Given the description of an element on the screen output the (x, y) to click on. 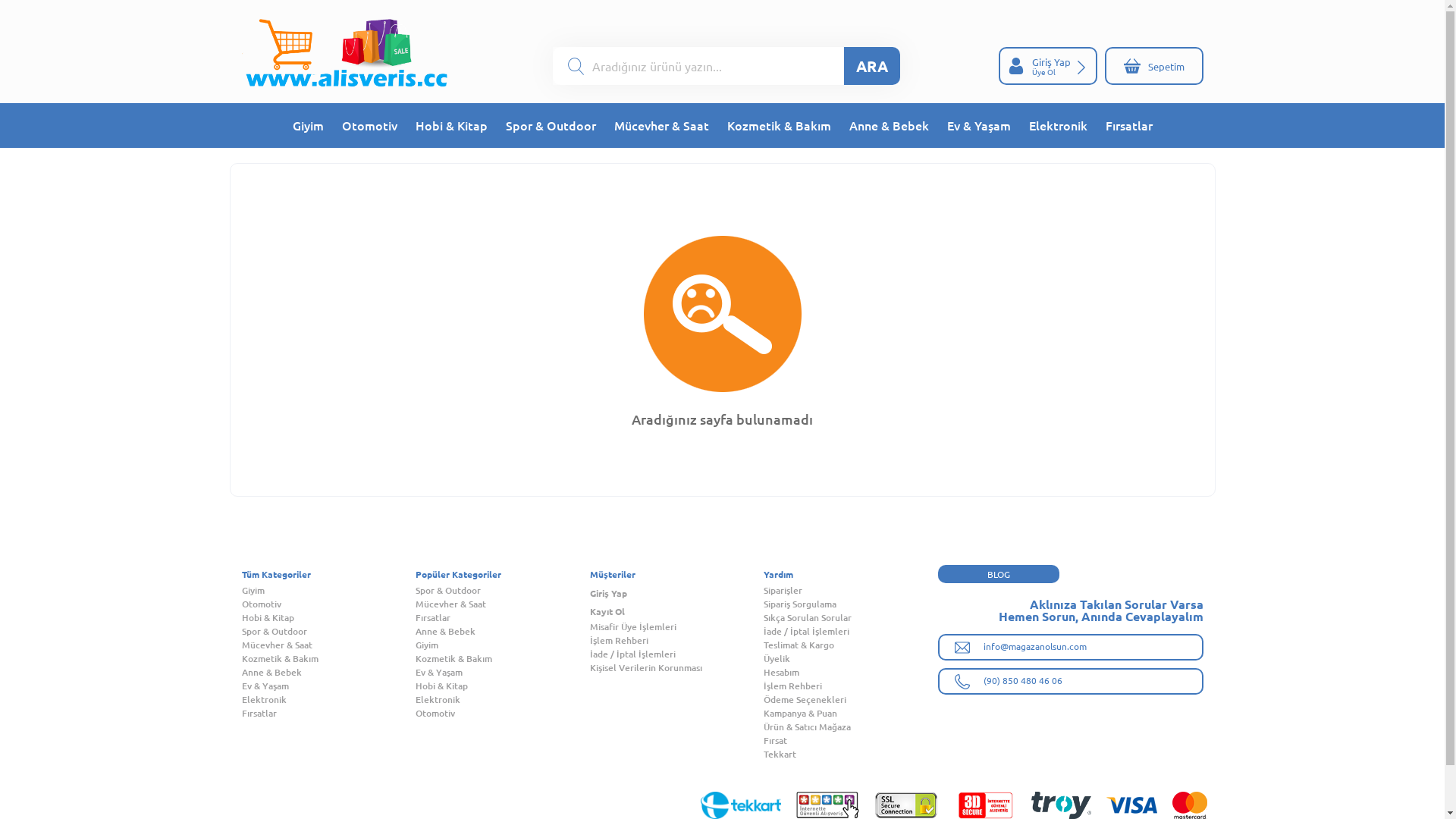
Kampanya & Puan Element type: text (850, 713)
Elektronik Element type: text (1057, 125)
Spor & Outdoor Element type: text (502, 590)
ARA Element type: text (872, 65)
info@magazanolsun.com Element type: text (1069, 646)
Elektronik Element type: text (502, 699)
BLOG Element type: text (997, 573)
Hobi & Kitap Element type: text (328, 617)
Teslimat & Kargo Element type: text (850, 645)
Hobi & Kitap Element type: text (502, 686)
Giyim Element type: text (502, 645)
Giyim Element type: text (328, 590)
Tekkart Element type: text (850, 754)
Giyim Element type: text (307, 125)
Otomotiv Element type: text (328, 604)
Anne & Bebek Element type: text (328, 672)
Anne & Bebek Element type: text (502, 631)
Spor & Outdoor Element type: text (328, 631)
Elektronik Element type: text (328, 699)
(90) 850 480 46 06 Element type: text (1069, 681)
Hobi & Kitap Element type: text (451, 125)
Anne & Bebek Element type: text (889, 125)
Otomotiv Element type: text (368, 125)
Spor & Outdoor Element type: text (549, 125)
Otomotiv Element type: text (502, 713)
